Given the description of an element on the screen output the (x, y) to click on. 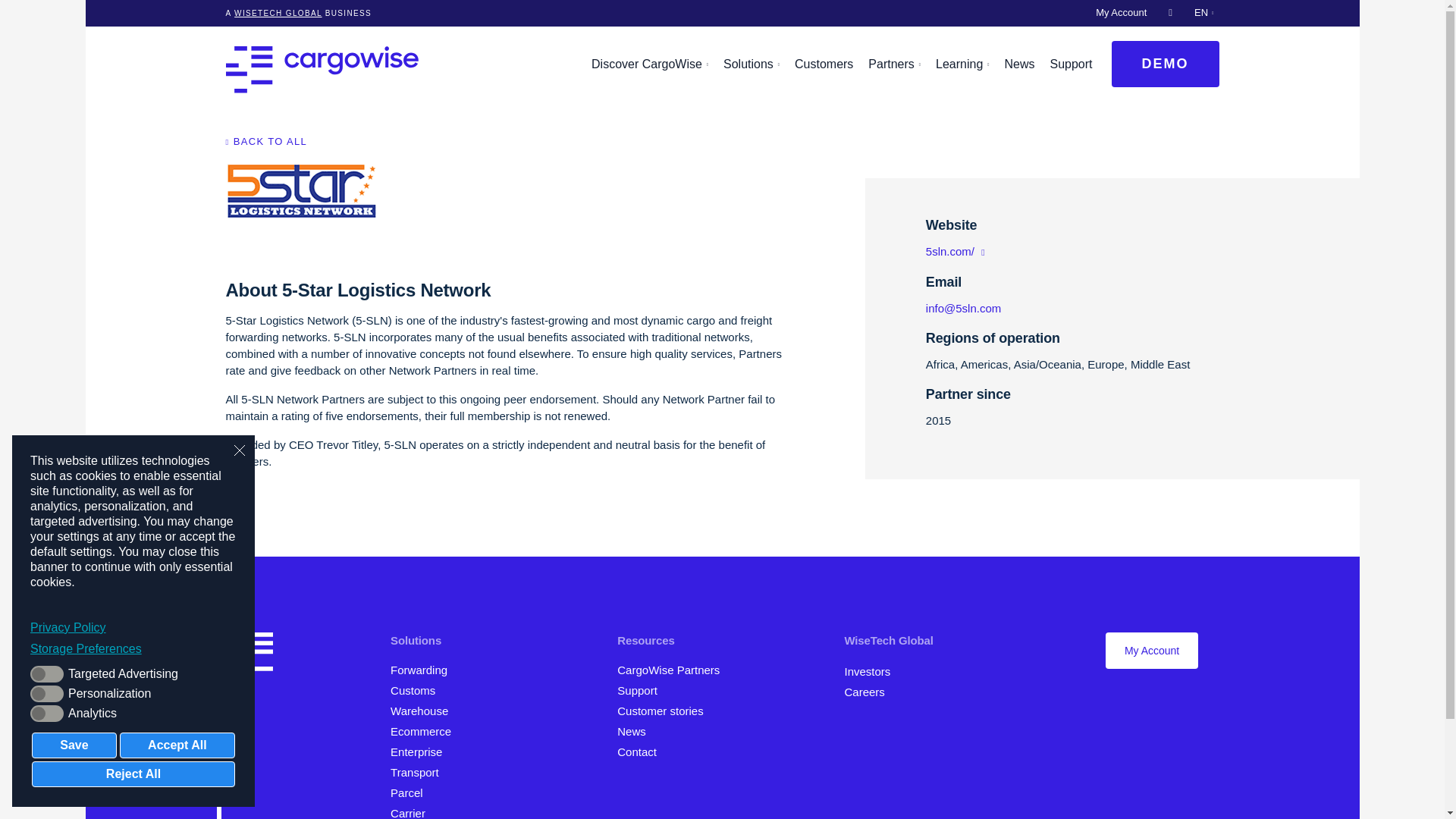
Enterprise Tools (421, 751)
International Logistics (424, 669)
CargoWise Carrier (414, 812)
Save (74, 745)
Privacy Policy (132, 627)
Global Trade Management and Compliance (417, 689)
Warehouse Management (424, 710)
WiseTech Global (277, 13)
Customers (823, 63)
CargoWise Parcel (413, 792)
